Given the description of an element on the screen output the (x, y) to click on. 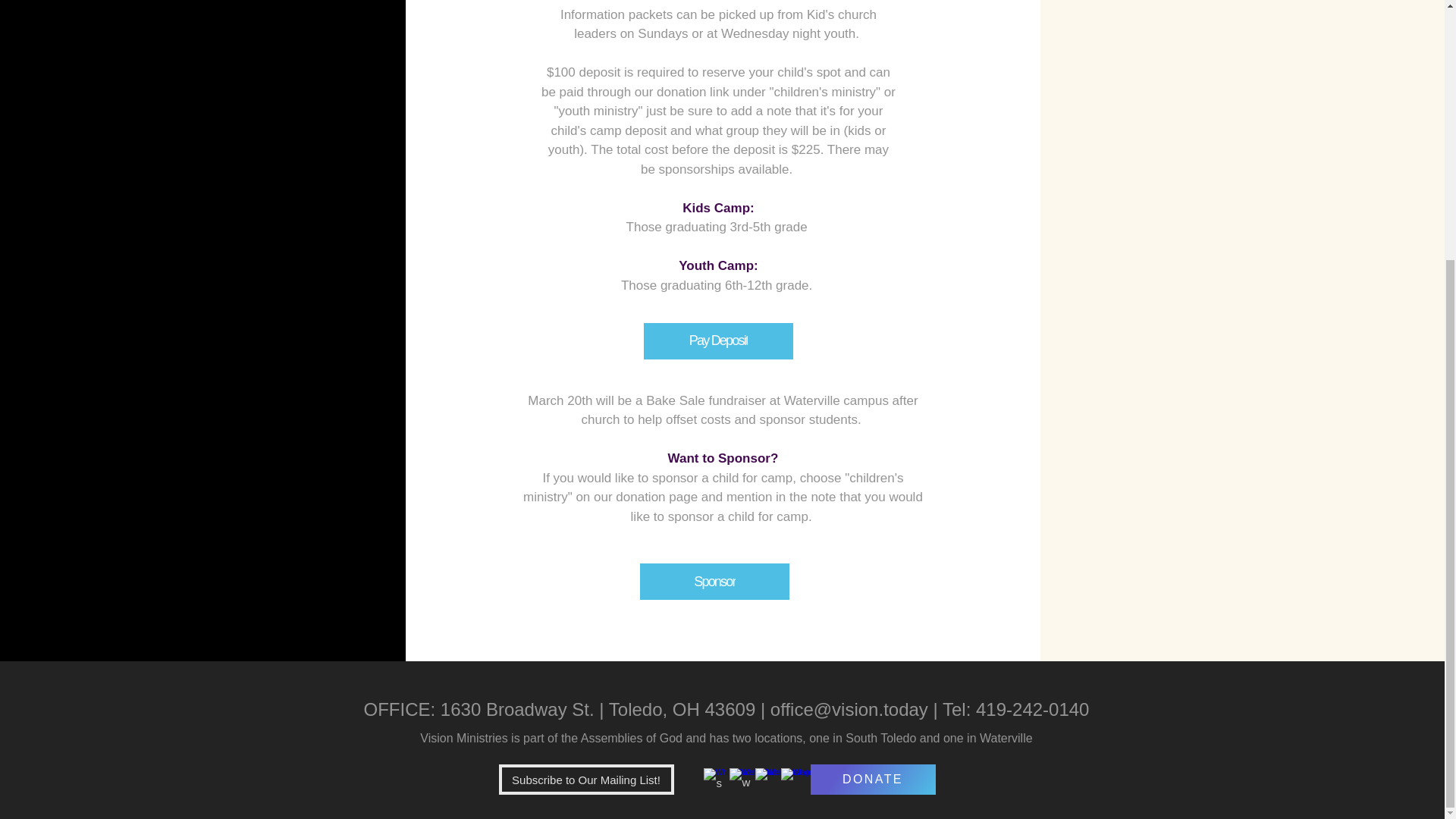
Sponsor (714, 581)
DONATE (871, 779)
Pay Deposit (718, 340)
Subscribe to Our Mailing List! (586, 779)
